Given the description of an element on the screen output the (x, y) to click on. 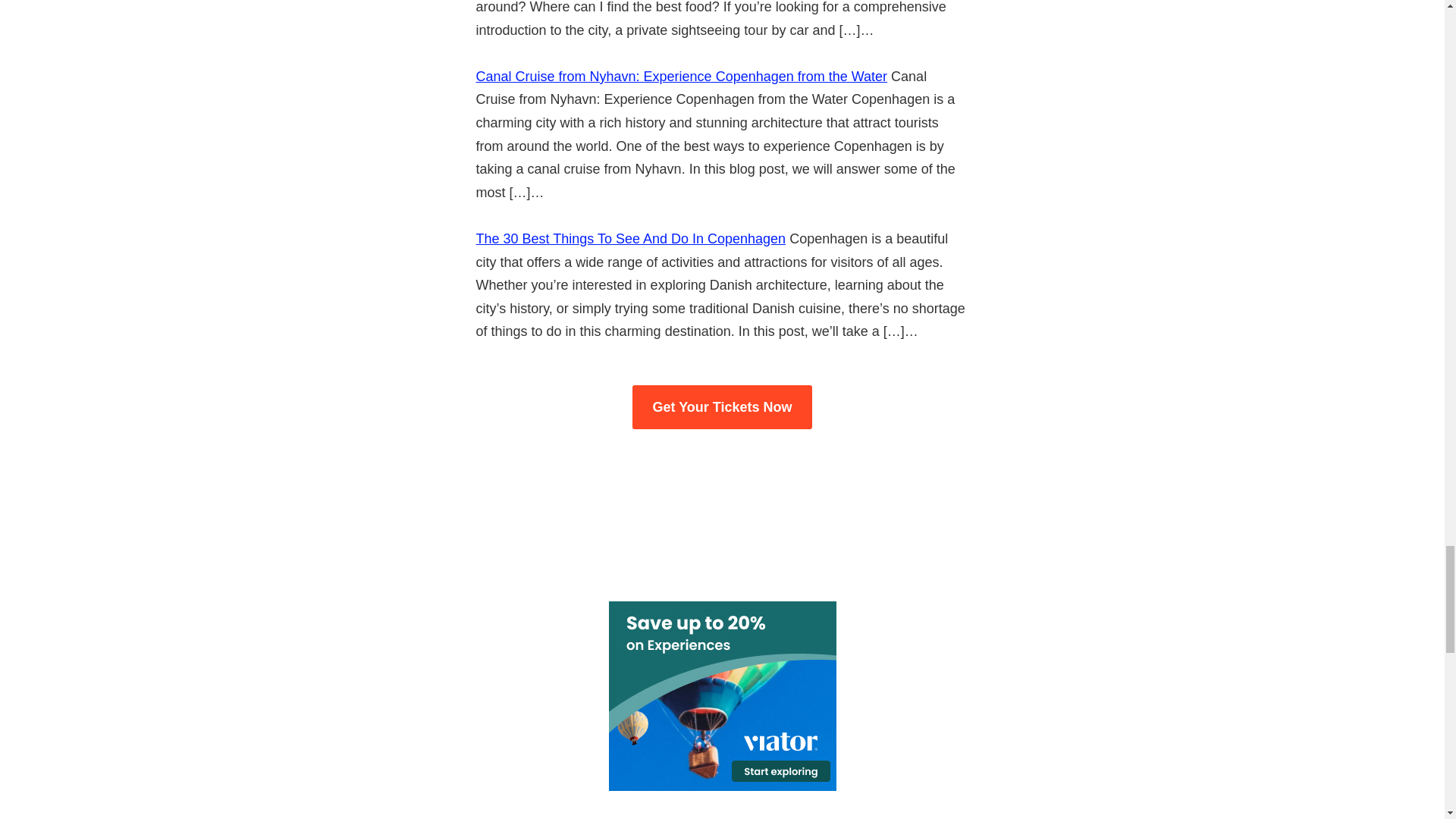
Get Your Tickets Now (720, 406)
The 30 Best Things To See And Do In Copenhagen (631, 238)
